Given the description of an element on the screen output the (x, y) to click on. 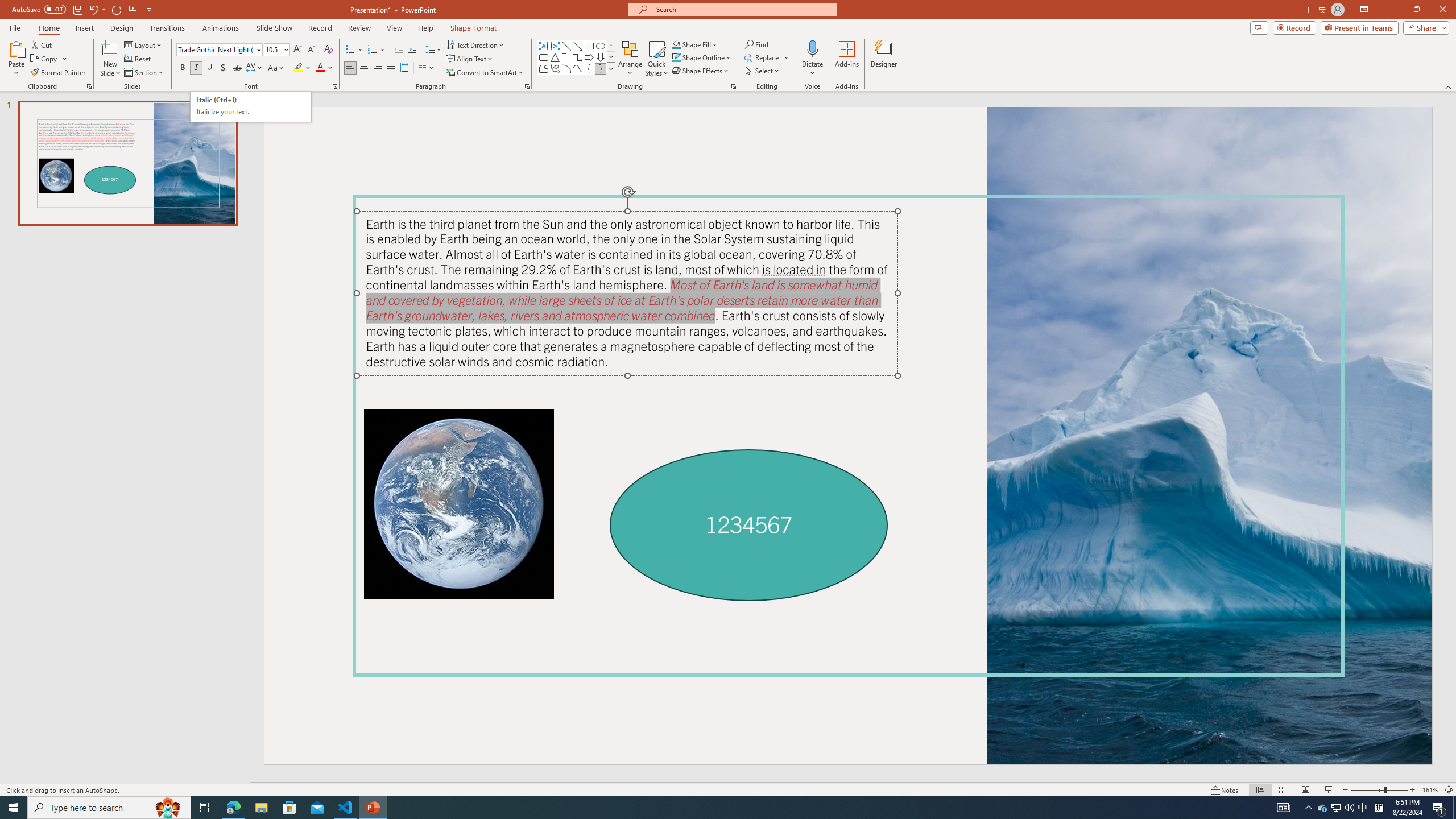
Zoom 161% (1430, 790)
